Given the description of an element on the screen output the (x, y) to click on. 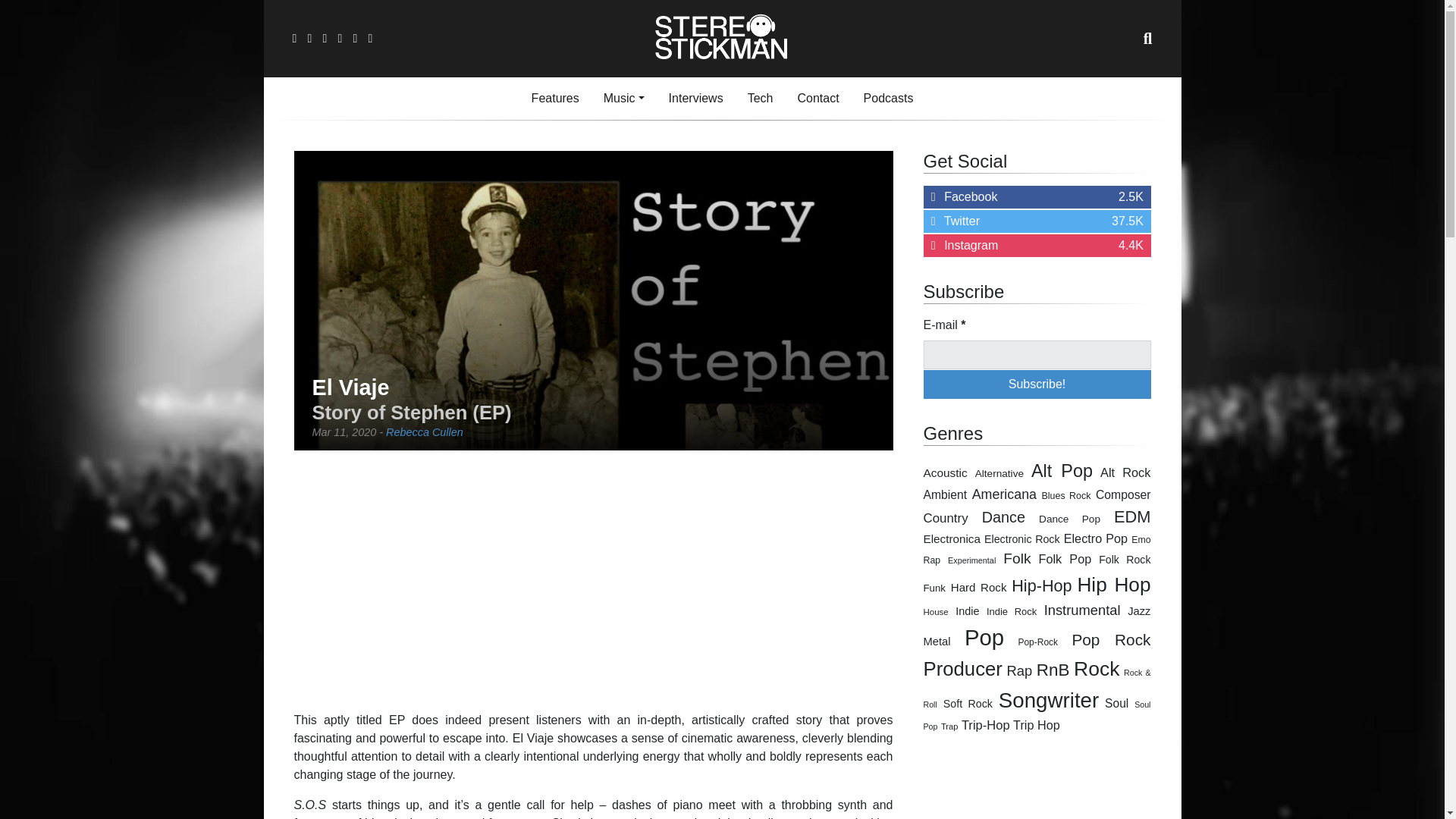
Contact (817, 98)
Features (555, 98)
Subscribe! (1037, 196)
Interviews (1037, 384)
Tech (695, 98)
Podcasts (760, 98)
Rebecca Cullen (888, 98)
Acoustic (424, 431)
Features (945, 472)
Interviews (555, 98)
E-mail (695, 98)
Music (1037, 245)
Music (1037, 354)
